Given the description of an element on the screen output the (x, y) to click on. 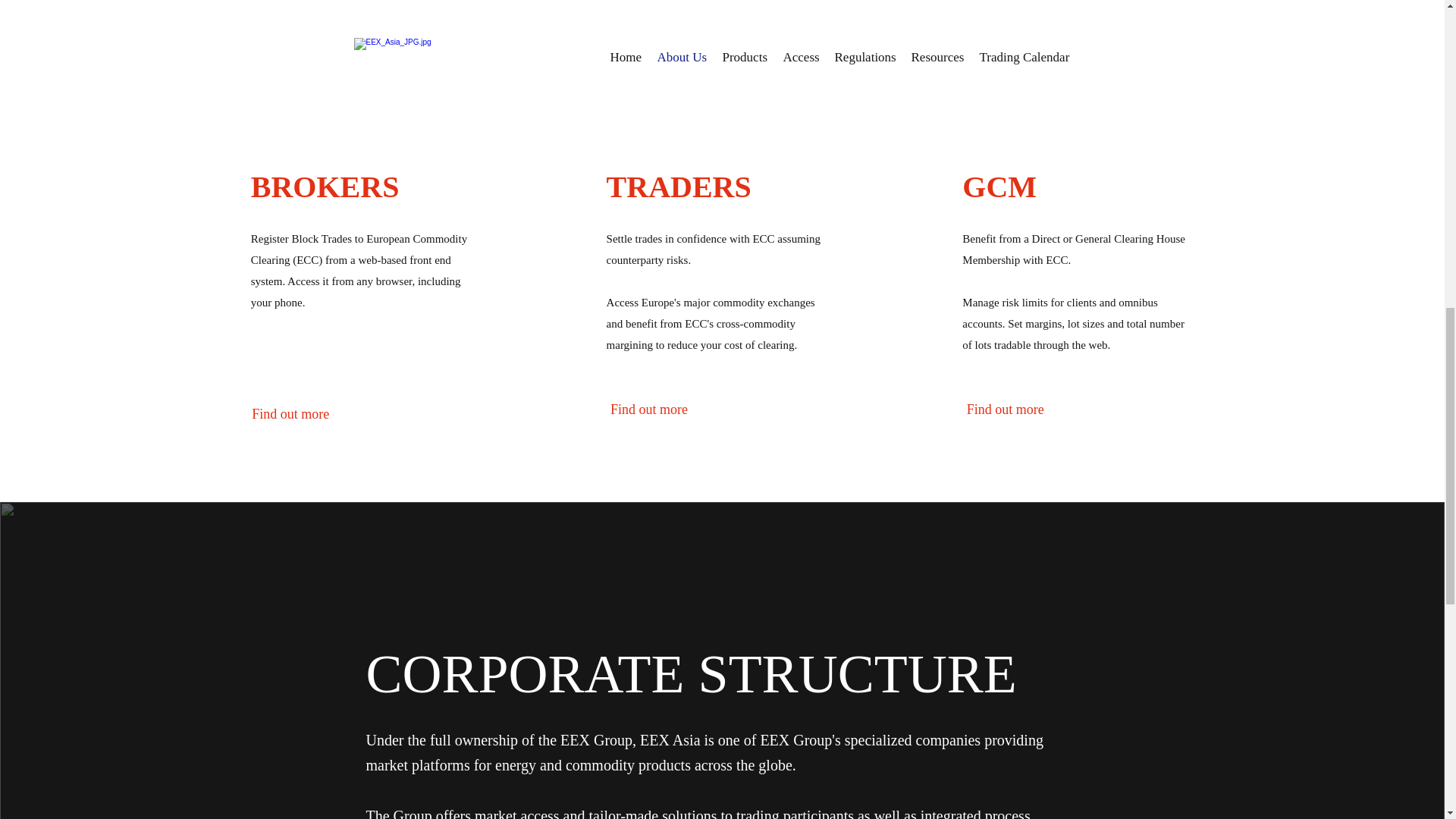
Find out more (1005, 409)
Find out more (290, 415)
TRADERS (679, 186)
BROKERS (324, 186)
Find out more (650, 409)
GCM (999, 186)
